Given the description of an element on the screen output the (x, y) to click on. 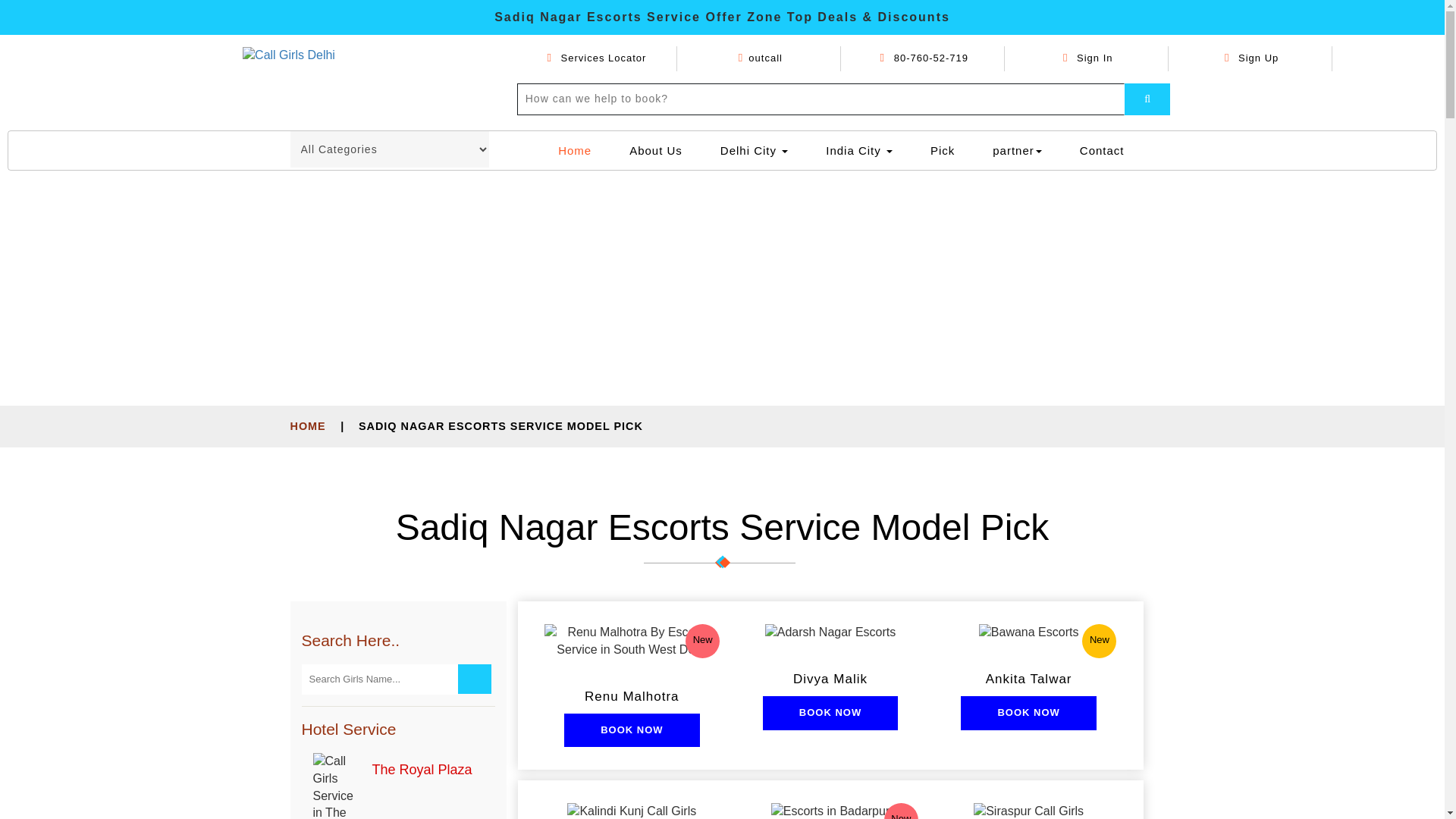
Delhi City (753, 150)
outcall (760, 57)
Book Now (1028, 713)
Book Now (631, 729)
Book Now (830, 713)
Sign Up (1251, 57)
Sign In (1087, 57)
About Us (655, 150)
Services Locator (596, 57)
